Given the description of an element on the screen output the (x, y) to click on. 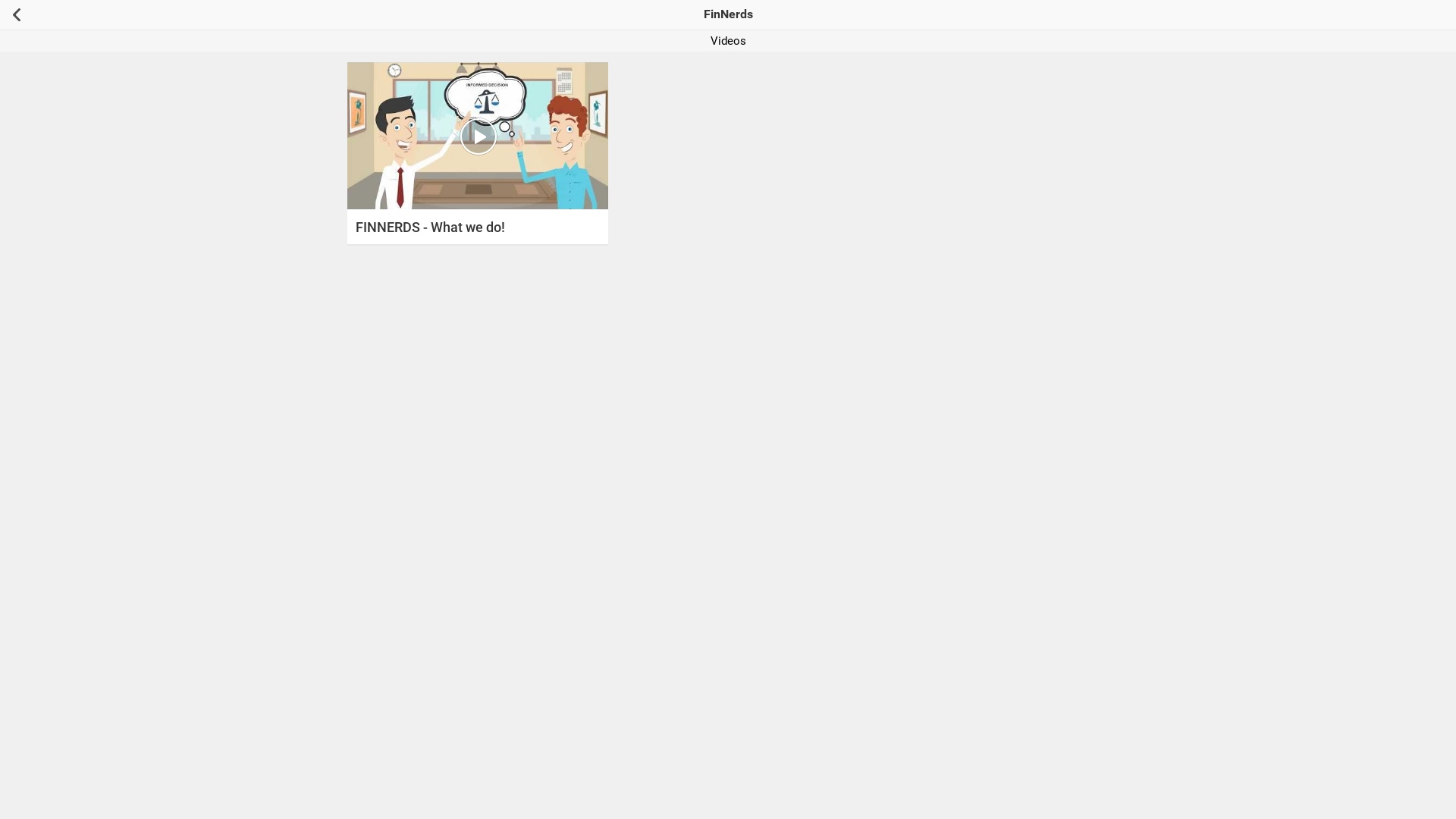
FINNERDS - What we do! Element type: text (477, 225)
Watch Video : FINNERDS - What we do! Element type: hover (477, 135)
